Given the description of an element on the screen output the (x, y) to click on. 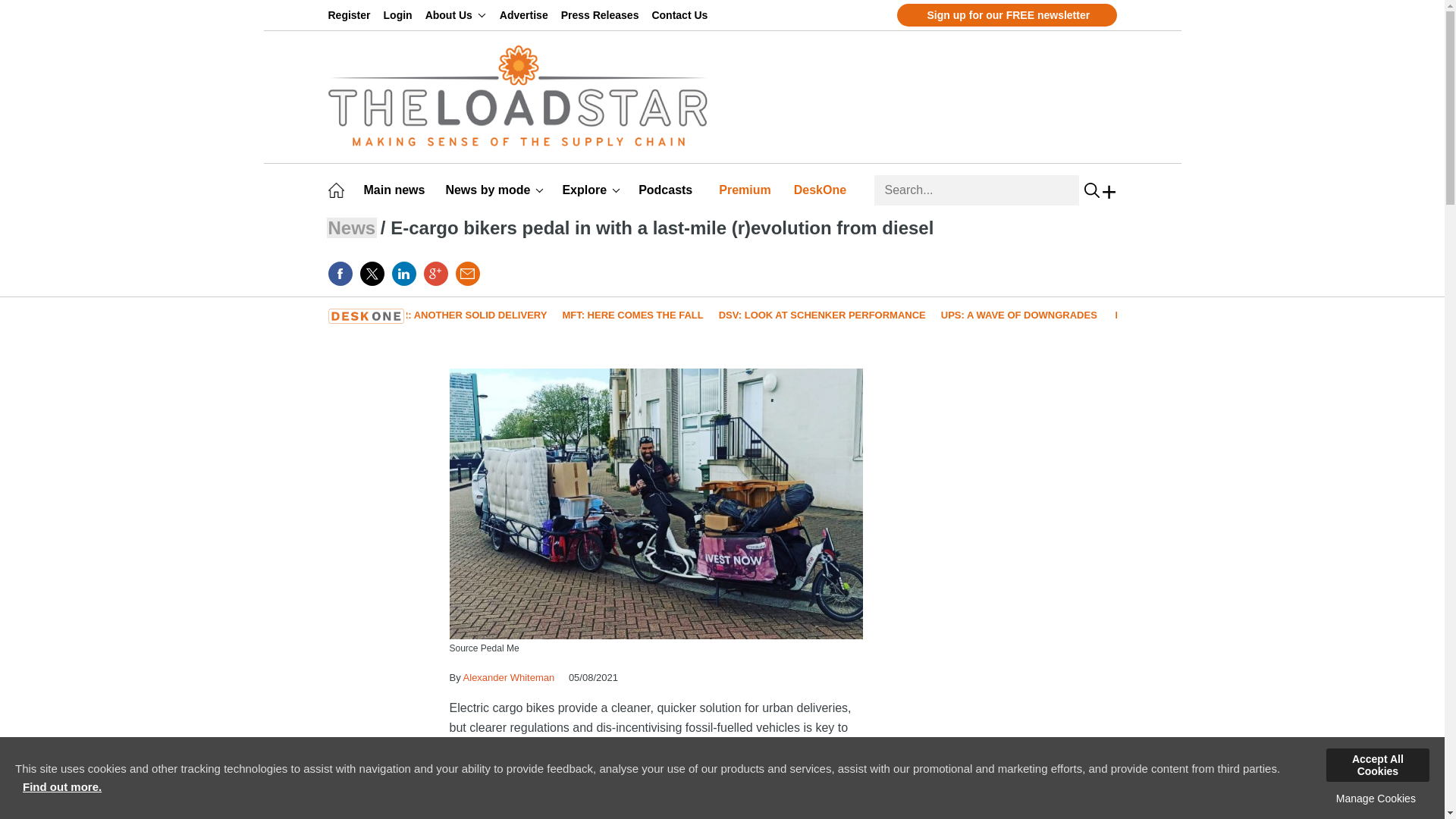
Login (400, 15)
About Us (455, 15)
Podcasts (668, 190)
Sign up for our FREE newsletter (1006, 15)
Premium (747, 190)
Main news (397, 190)
Contact Us (681, 15)
DeskOne (822, 190)
Register (351, 15)
About Us (455, 15)
Advertise (526, 15)
Press Releases (602, 15)
DeskOne (822, 190)
Register (351, 15)
Explore (591, 190)
